Given the description of an element on the screen output the (x, y) to click on. 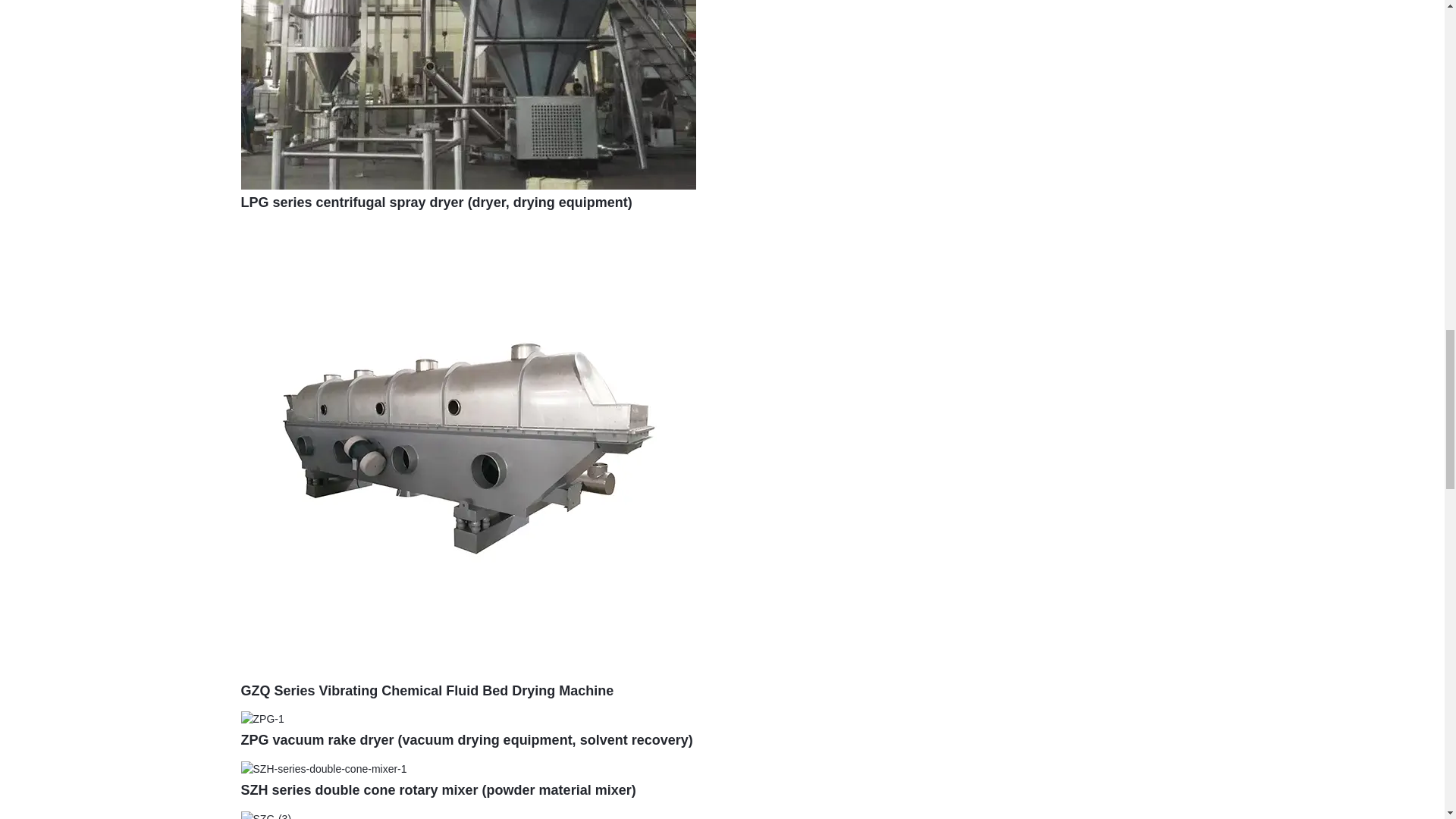
GZQ Series Vibrating Chemical Fluid Bed Drying Machine (427, 690)
GZQ Series Vibrating Chemical Fluid Bed Drying Machine (427, 690)
GZQ Series Vibrating Chemical Fluid Bed Drying Machine (468, 449)
